Given the description of an element on the screen output the (x, y) to click on. 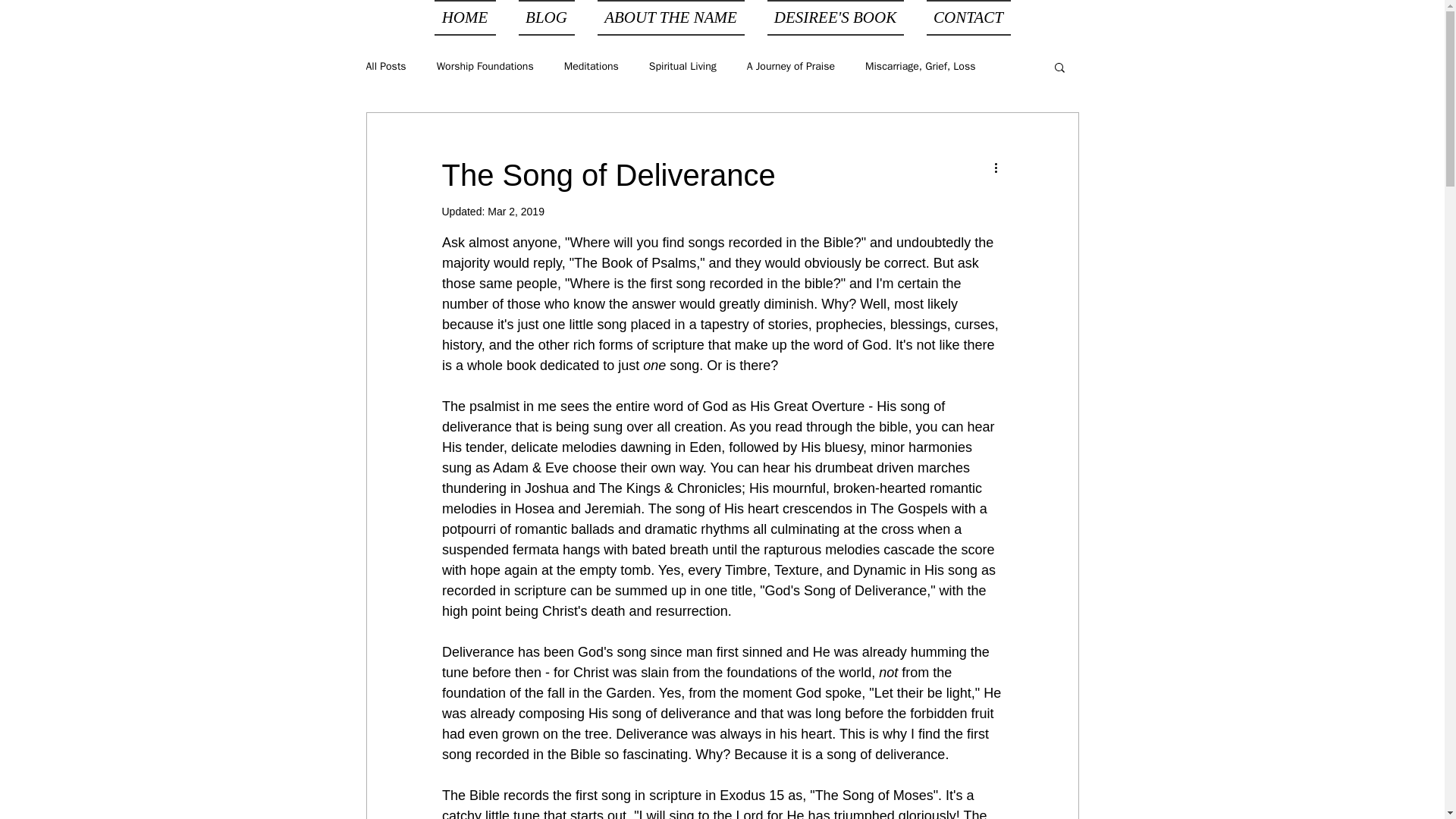
BLOG (545, 18)
DESIREE'S BOOK (834, 18)
Miscarriage, Grief, Loss (919, 66)
HOME (469, 18)
ABOUT THE NAME (670, 18)
Spiritual Living (682, 66)
Mar 2, 2019 (515, 211)
A Journey of Praise (790, 66)
All Posts (385, 66)
Worship Foundations (485, 66)
